Given the description of an element on the screen output the (x, y) to click on. 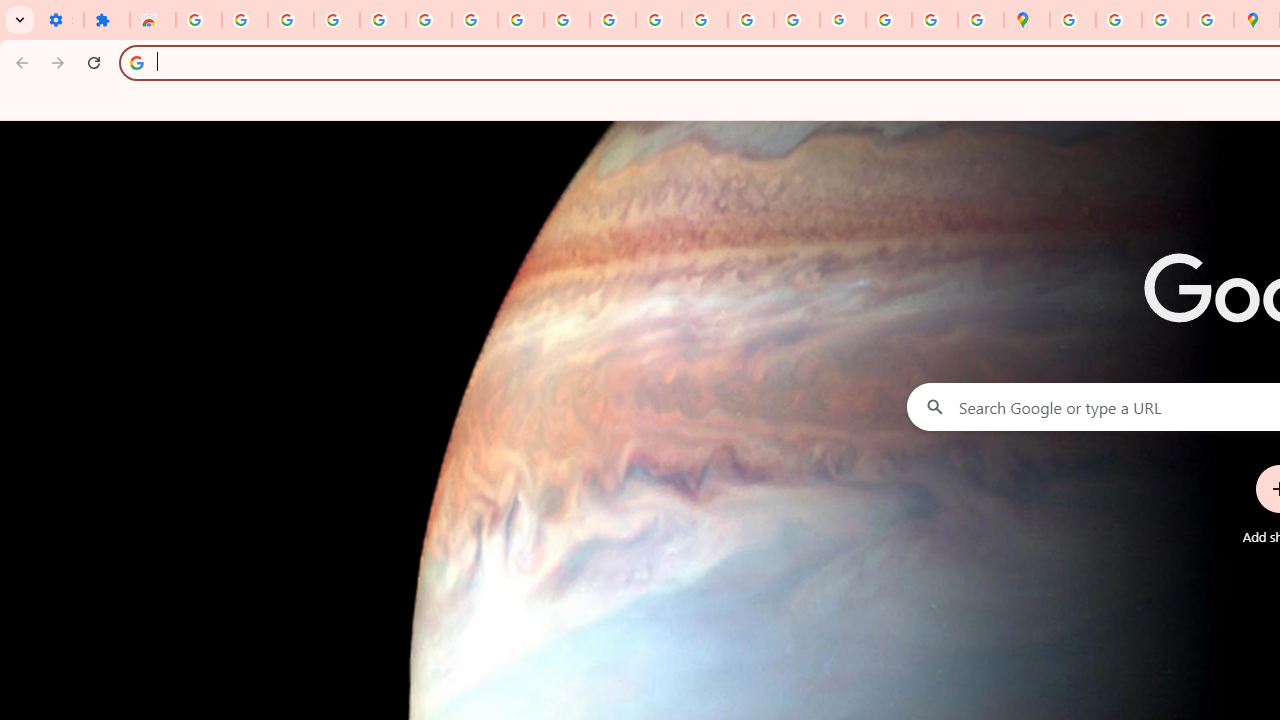
Sign in - Google Accounts (428, 20)
YouTube (567, 20)
https://scholar.google.com/ (659, 20)
Settings - On startup (60, 20)
Safety in Our Products - Google Safety Center (1210, 20)
Delete photos & videos - Computer - Google Photos Help (290, 20)
Reviews: Helix Fruit Jump Arcade Game (153, 20)
